Given the description of an element on the screen output the (x, y) to click on. 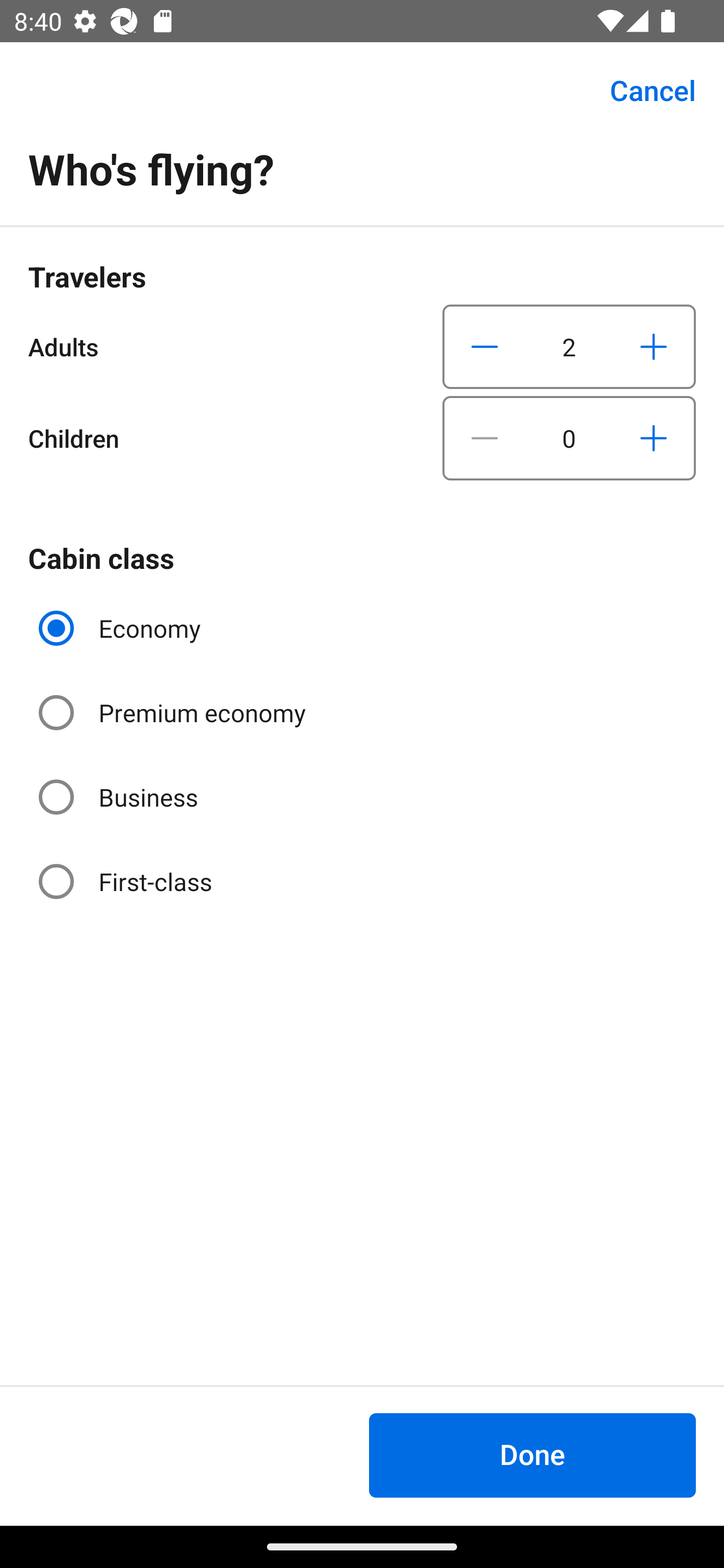
Cancel (641, 90)
Decrease (484, 346)
Increase (653, 346)
Decrease (484, 437)
Increase (653, 437)
Economy (121, 628)
Premium economy (174, 712)
Business (120, 796)
First-class (126, 880)
Done (532, 1454)
